Given the description of an element on the screen output the (x, y) to click on. 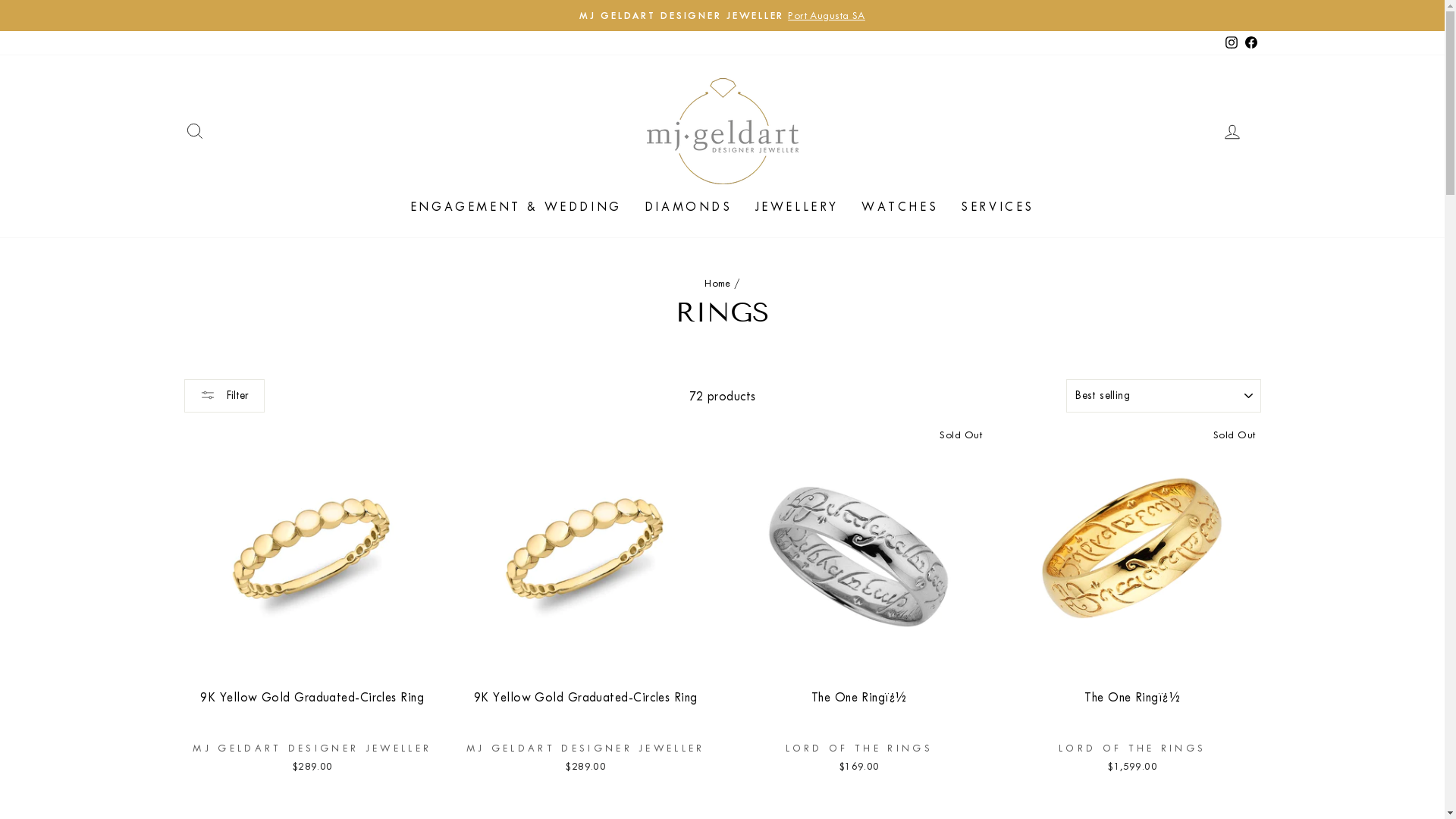
Facebook Element type: text (1250, 42)
LOG IN Element type: text (1231, 130)
SEARCH Element type: text (193, 130)
ENGAGEMENT & WEDDING Element type: text (515, 206)
JEWELLERY Element type: text (796, 206)
Instagram Element type: text (1230, 42)
DIAMONDS Element type: text (688, 206)
WATCHES Element type: text (899, 206)
Home Element type: text (717, 282)
MJ GELDART DESIGNER JEWELLERPort Augusta SA Element type: text (722, 15)
Filter Element type: text (224, 395)
Skip to content Element type: text (0, 0)
SERVICES Element type: text (997, 206)
